Given the description of an element on the screen output the (x, y) to click on. 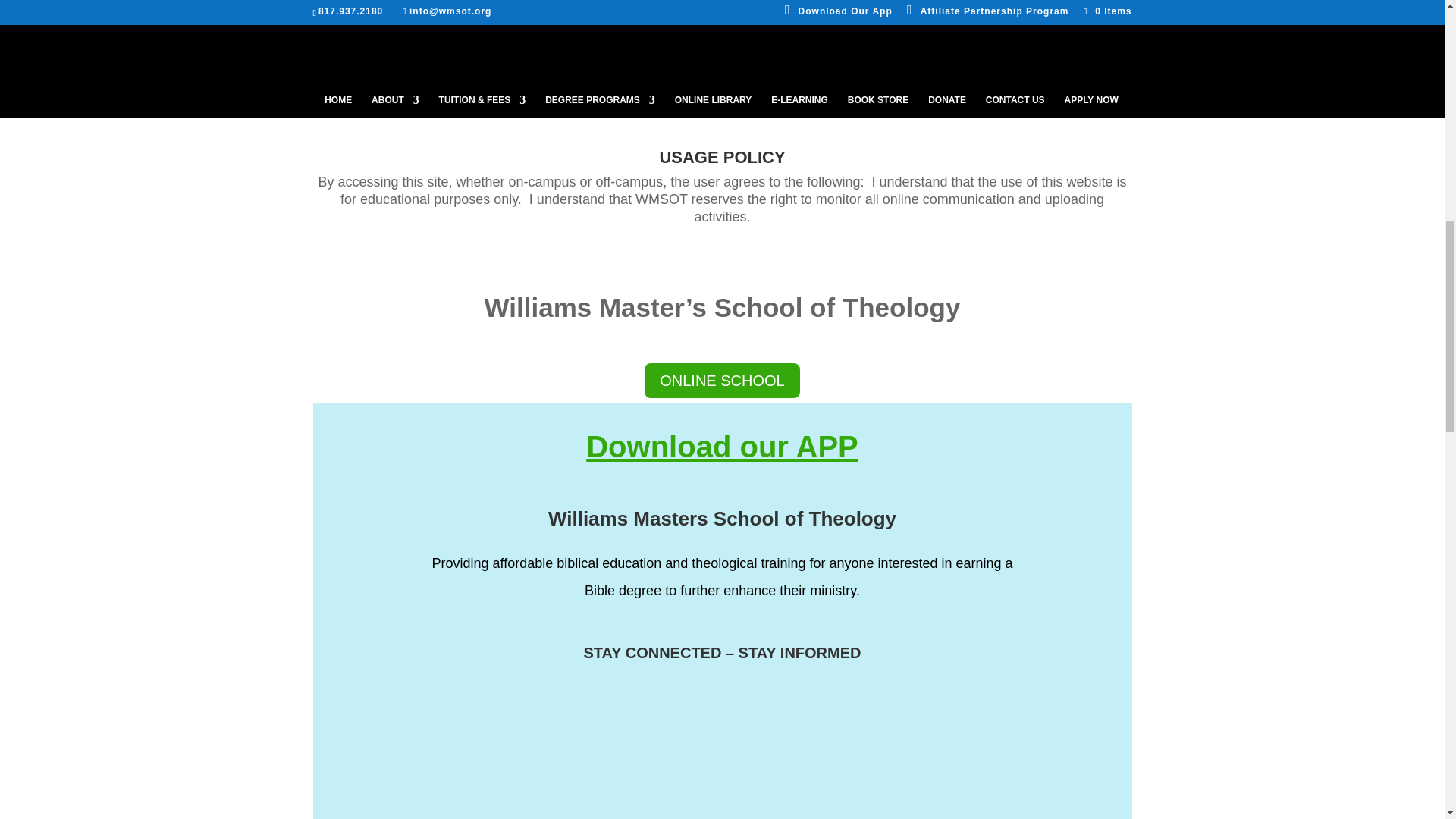
Download our APP (722, 446)
ONLINE SCHOOL (721, 380)
